Given the description of an element on the screen output the (x, y) to click on. 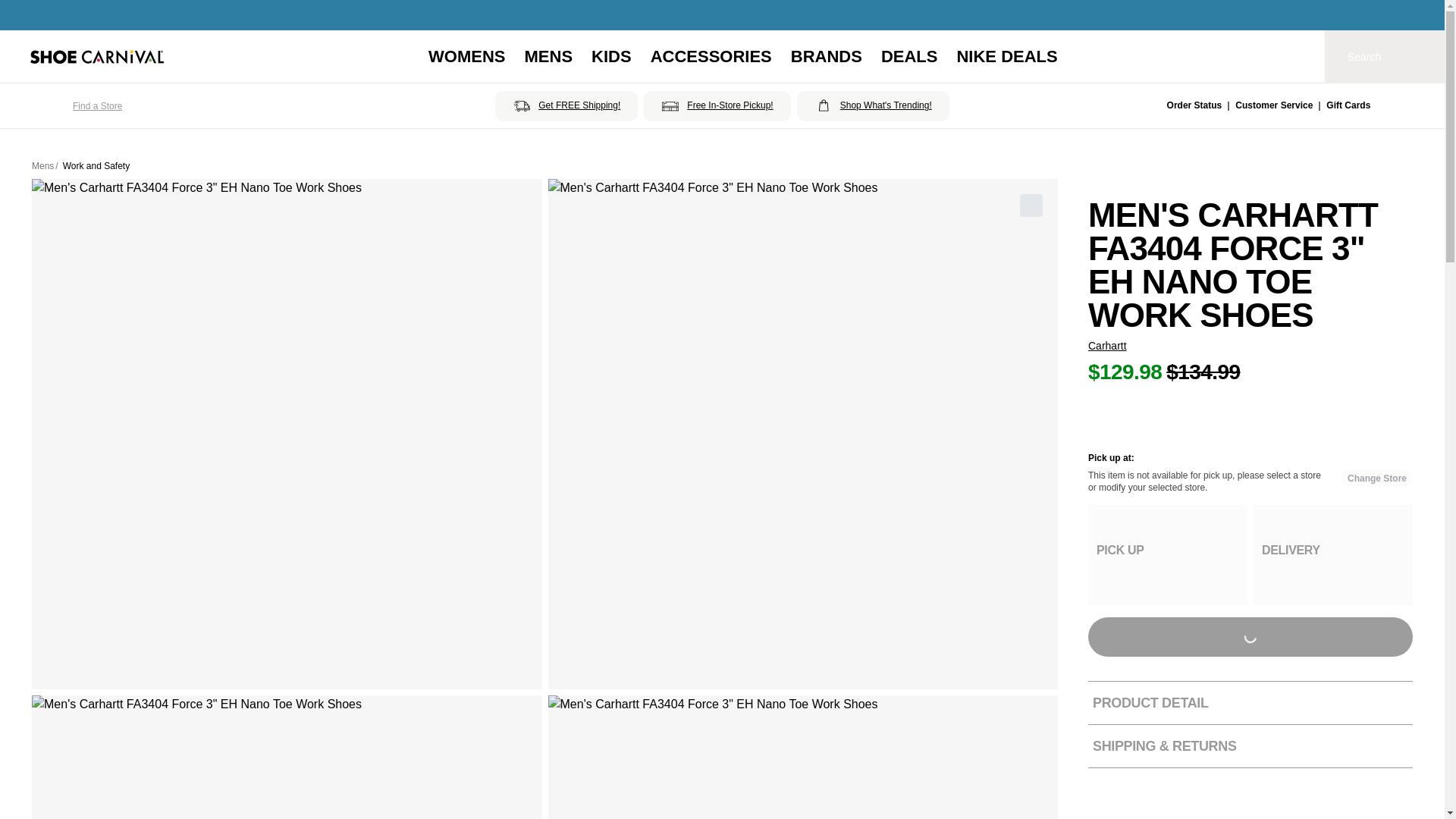
Order Status (1195, 106)
ACCESSORIES (710, 55)
WOMENS (466, 55)
Free In-Store Pickup! (716, 105)
DELIVERY (1332, 554)
Change Store (1376, 478)
Carhartt (1106, 345)
Work and Safety (96, 165)
PICK UP (1167, 554)
Gift Cards (1348, 106)
